Given the description of an element on the screen output the (x, y) to click on. 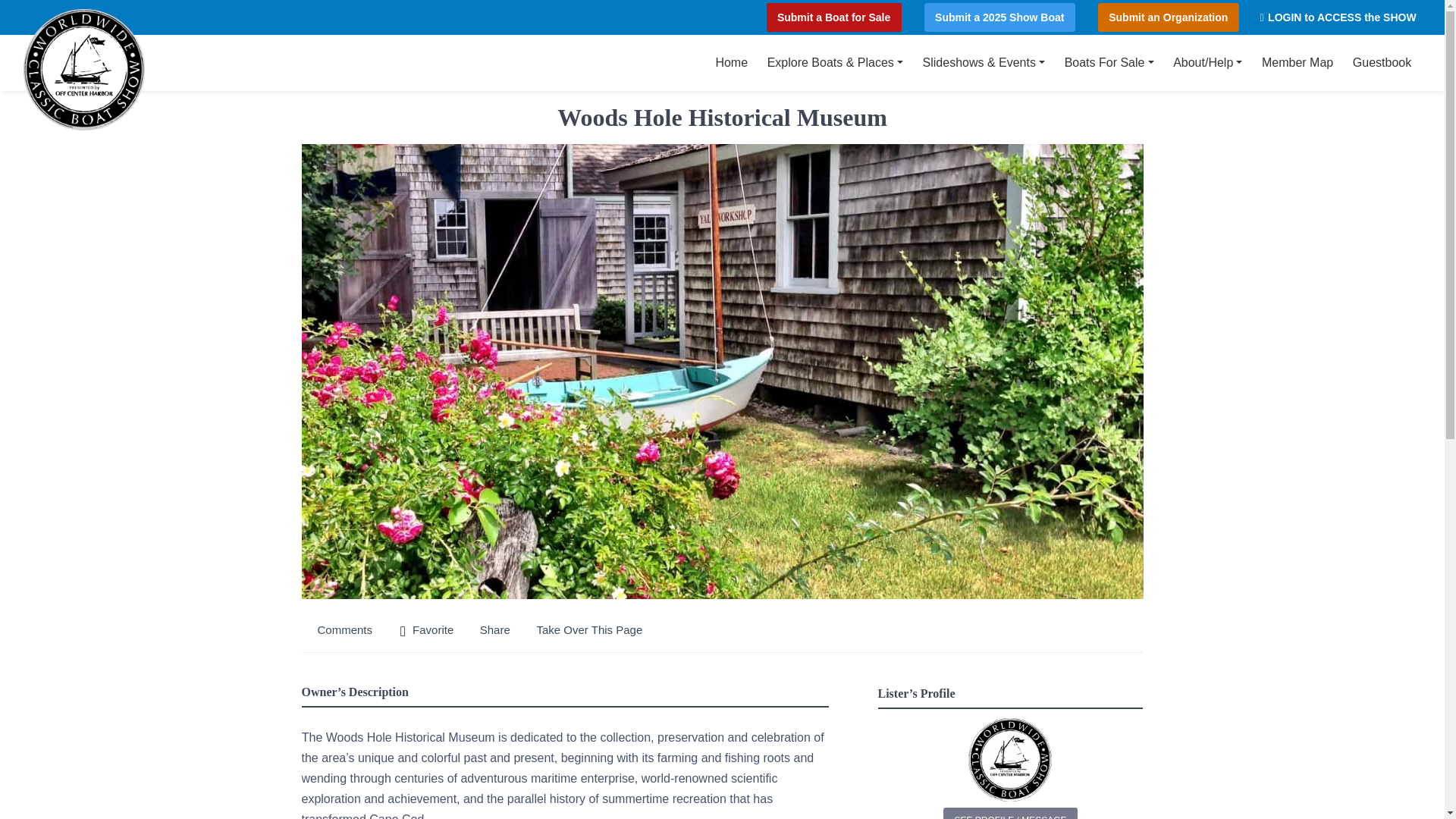
Home (731, 62)
Submit a 2025 Show Boat (1001, 17)
Boats For Sale (1108, 62)
Submit an Organization (1170, 17)
LOGIN to ACCESS the SHOW (1338, 17)
Submit an Organization (1170, 17)
 LOGIN to ACCESS the SHOW (1338, 17)
Submit a 2025 Show Boat (1001, 17)
Home (731, 62)
Submit a Boat for Sale (836, 17)
Submit a Boat for Sale (836, 17)
